Given the description of an element on the screen output the (x, y) to click on. 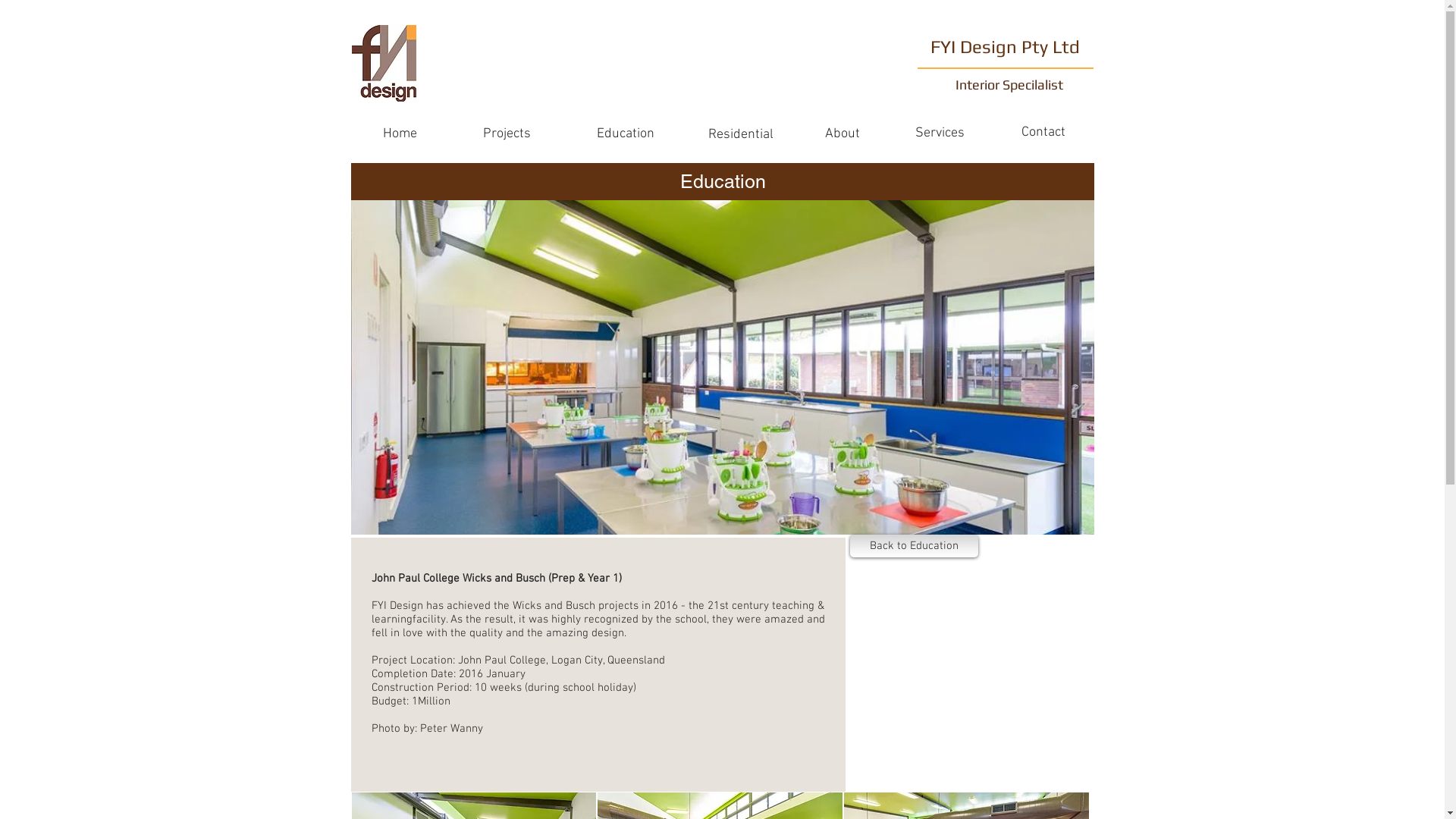
Services Element type: text (939, 133)
Contact Element type: text (1042, 132)
Back to Education Element type: text (913, 545)
Education Element type: text (625, 134)
Projects Element type: text (507, 134)
002.jpg Element type: hover (721, 367)
Home Element type: text (399, 134)
Residential Element type: text (740, 134)
FYI Design Pty Ltd Element type: text (1004, 46)
About Element type: text (842, 134)
Interior Specilalist  Element type: text (1010, 84)
